Given the description of an element on the screen output the (x, y) to click on. 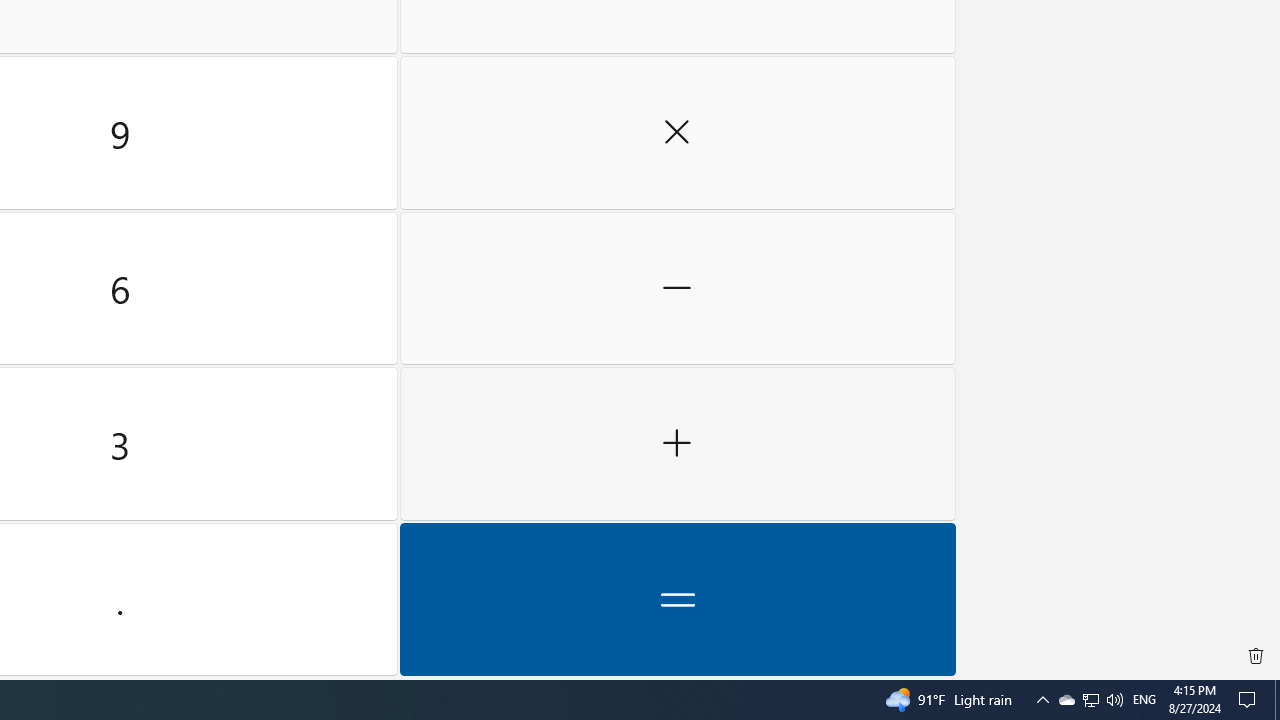
Clear all history (1256, 655)
User Promoted Notification Area (1090, 699)
Multiply by (677, 133)
Notification Chevron (1091, 699)
Minus (1042, 699)
Plus (1066, 699)
Q2790: 100% (677, 288)
Equals (677, 444)
Show desktop (1114, 699)
Action Center, No new notifications (677, 599)
Tray Input Indicator - English (United States) (1277, 699)
